Given the description of an element on the screen output the (x, y) to click on. 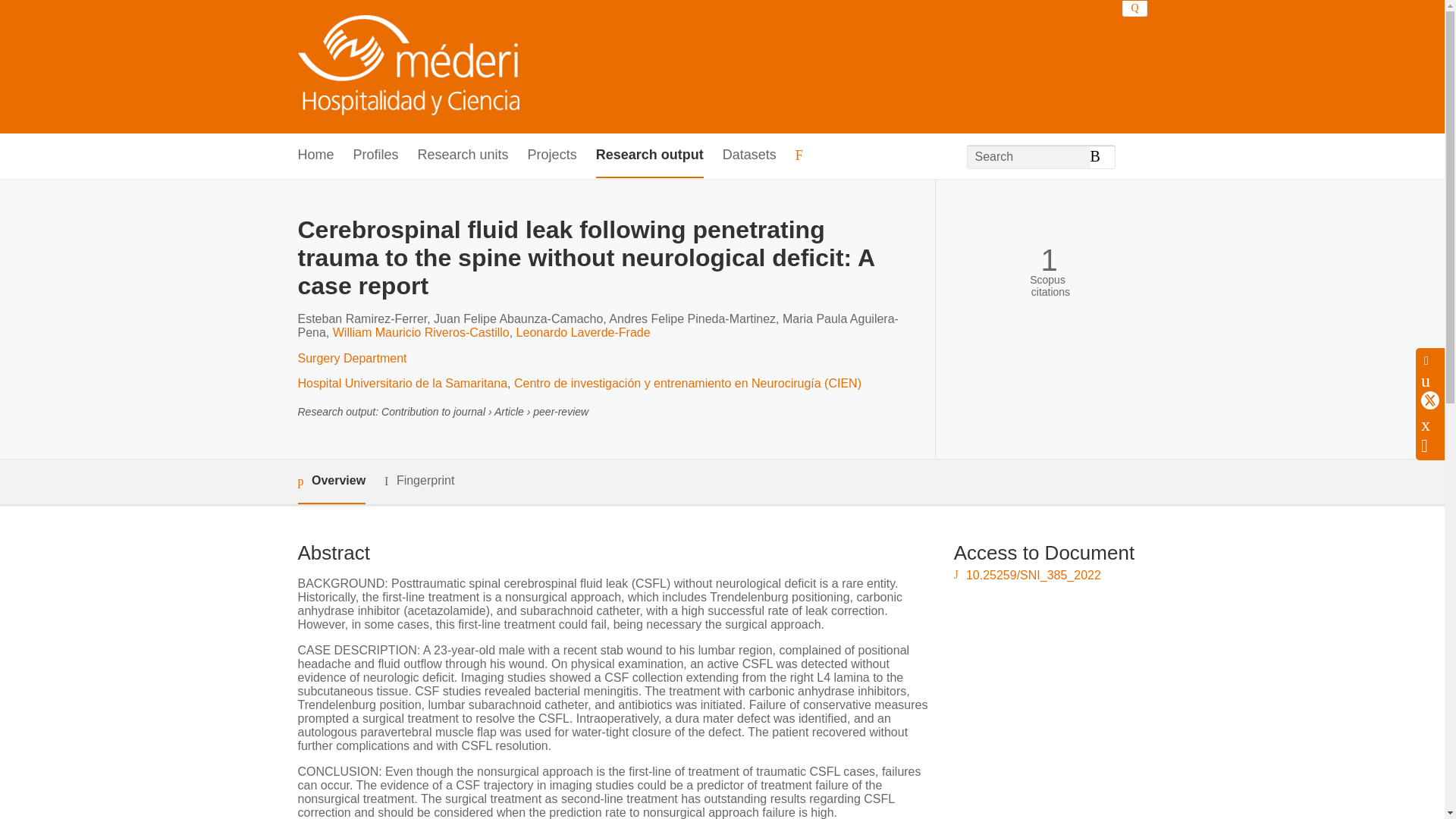
Leonardo Laverde-Frade (583, 332)
Hospital Universitario de la Samaritana (401, 382)
Overview (331, 481)
Surgery Department (351, 358)
Research units (462, 155)
Research output (649, 155)
Profiles (375, 155)
William Mauricio Riveros-Castillo (421, 332)
Datasets (749, 155)
